Given the description of an element on the screen output the (x, y) to click on. 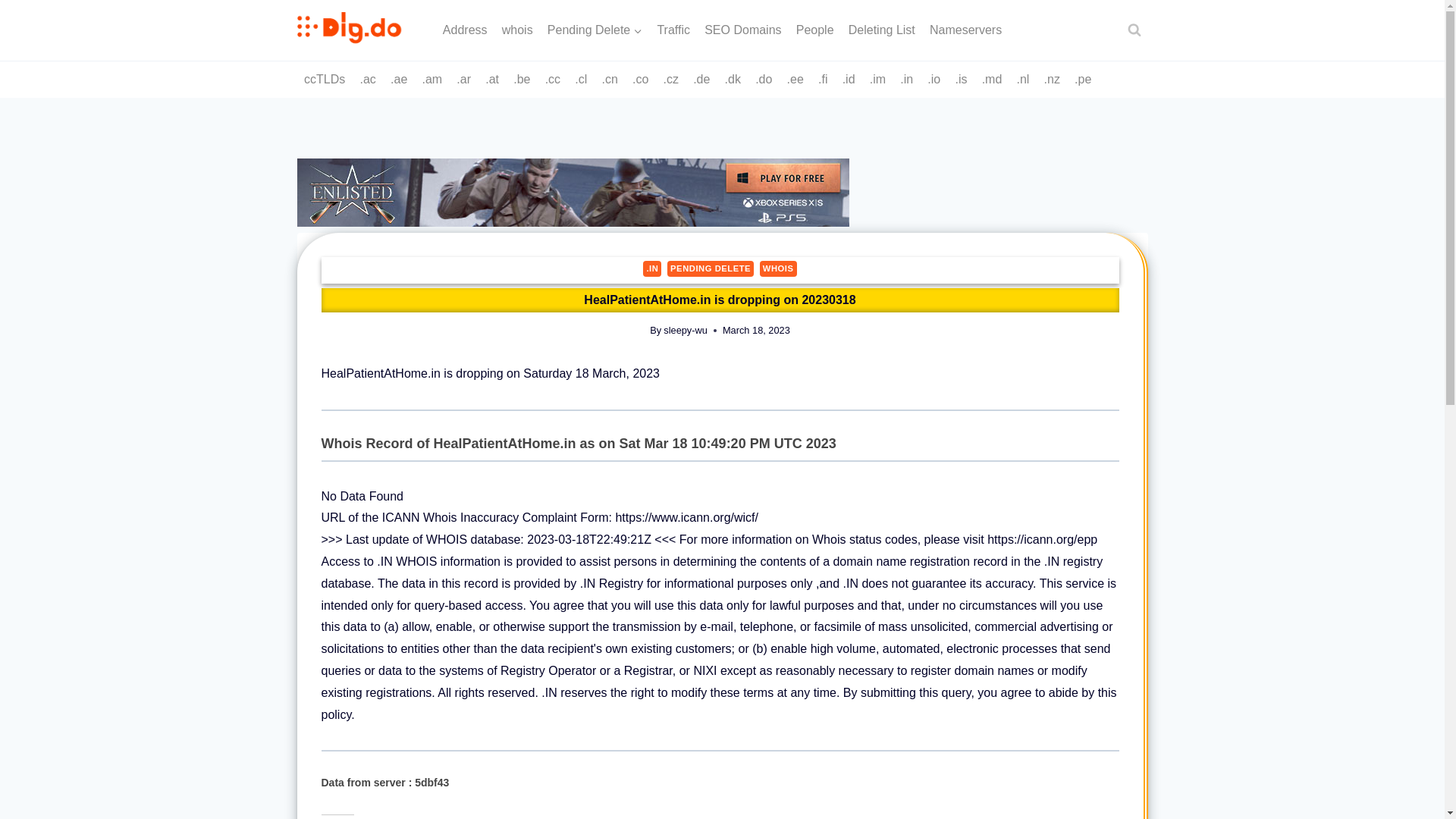
Address (465, 30)
.am (431, 79)
SEO Domains (743, 30)
Pending Delete (594, 30)
Deleting List (881, 30)
whois (517, 30)
Nameservers (965, 30)
Traffic (673, 30)
ccTLDs (324, 79)
People (815, 30)
